Given the description of an element on the screen output the (x, y) to click on. 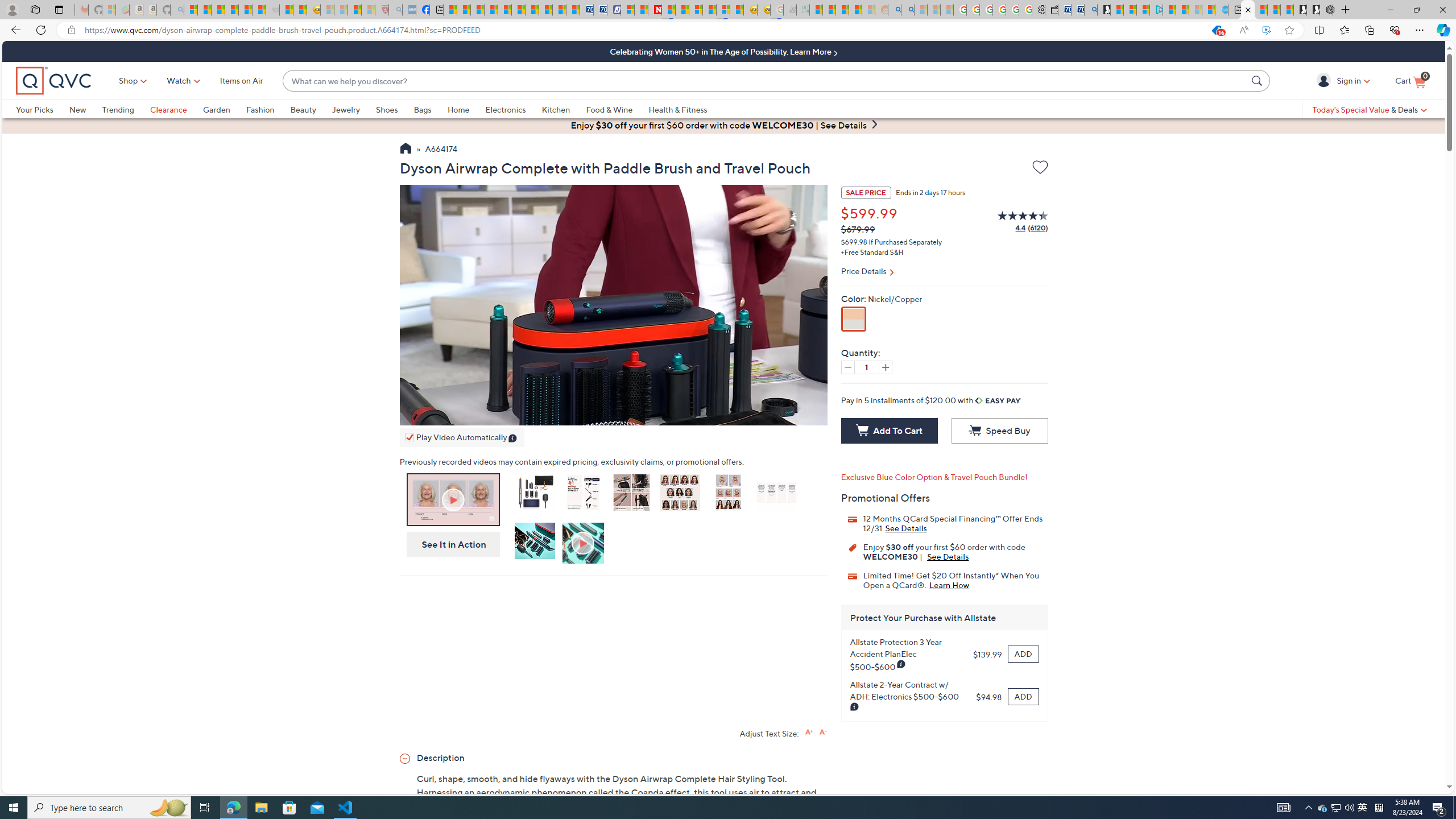
QVC home (53, 80)
Easy Pay (998, 400)
Beauty (310, 109)
Wallet (1050, 9)
Dyson Airwrap Complete with Paddle Brush and Travel Pouch (533, 492)
See It in Action (449, 544)
Add to Wish List (1040, 167)
Garden (216, 109)
Description (612, 756)
Jewelry (345, 109)
Student Loan Update: Forgiveness Program Ends This Month (855, 9)
